Given the description of an element on the screen output the (x, y) to click on. 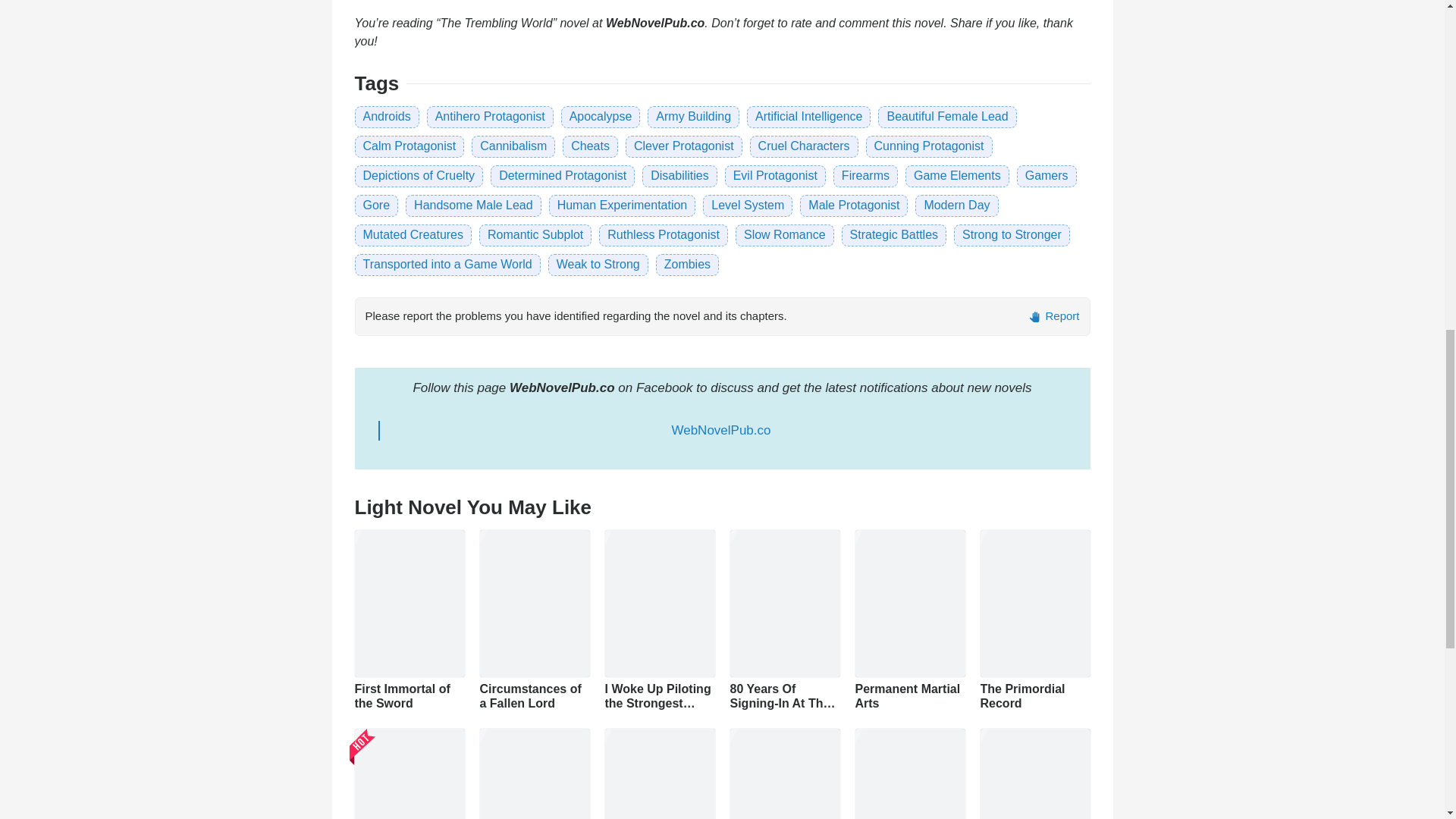
Antihero Protagonist (489, 115)
Beautiful Female Lead (946, 115)
Artificial Intelligence (808, 115)
Calm Protagonist (408, 145)
Army Building (693, 115)
Apocalypse (600, 115)
Androids (386, 115)
